Given the description of an element on the screen output the (x, y) to click on. 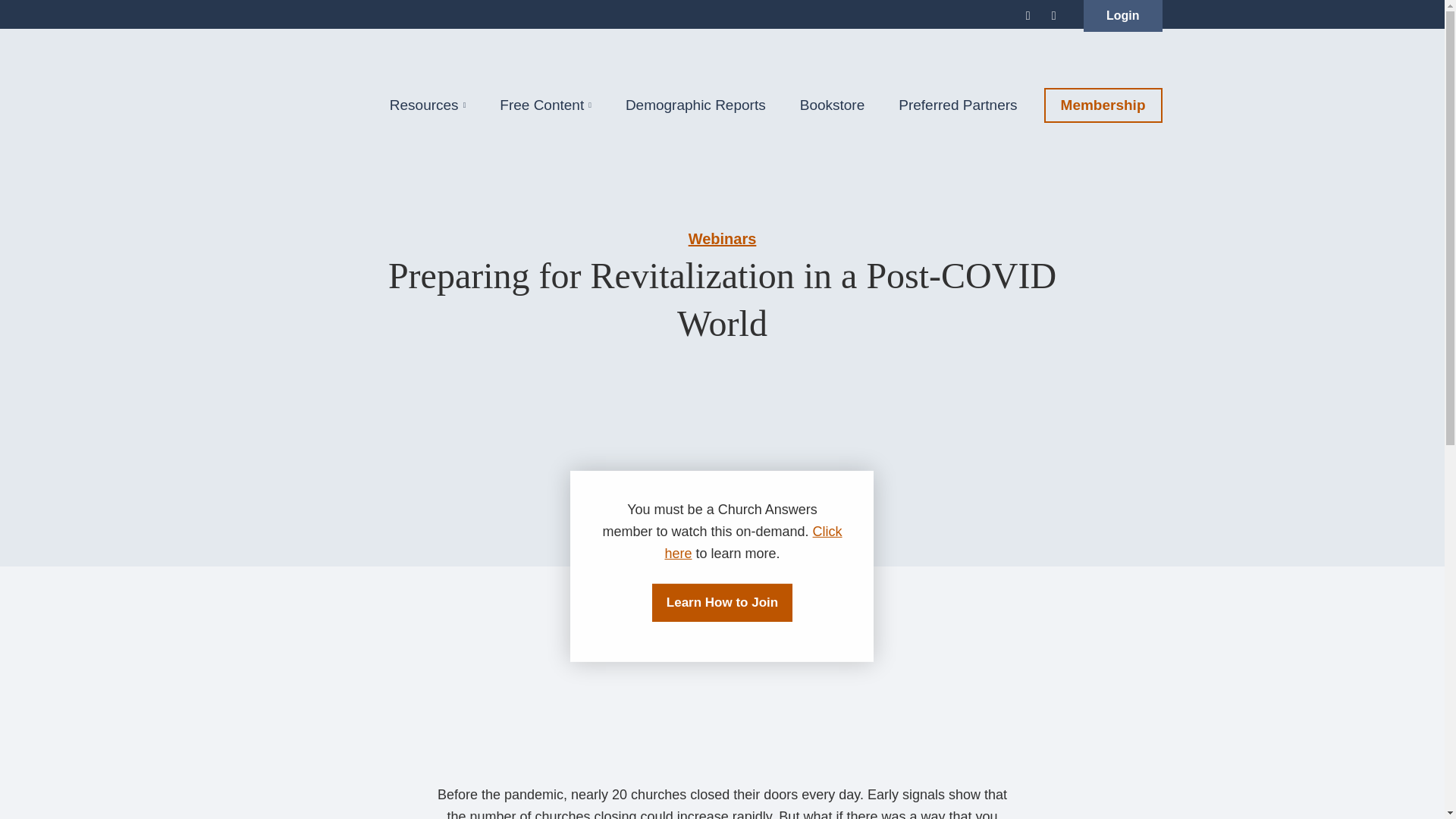
Login (1122, 15)
Resources (435, 105)
Shopping Cart (1057, 16)
Free Content (545, 105)
